Given the description of an element on the screen output the (x, y) to click on. 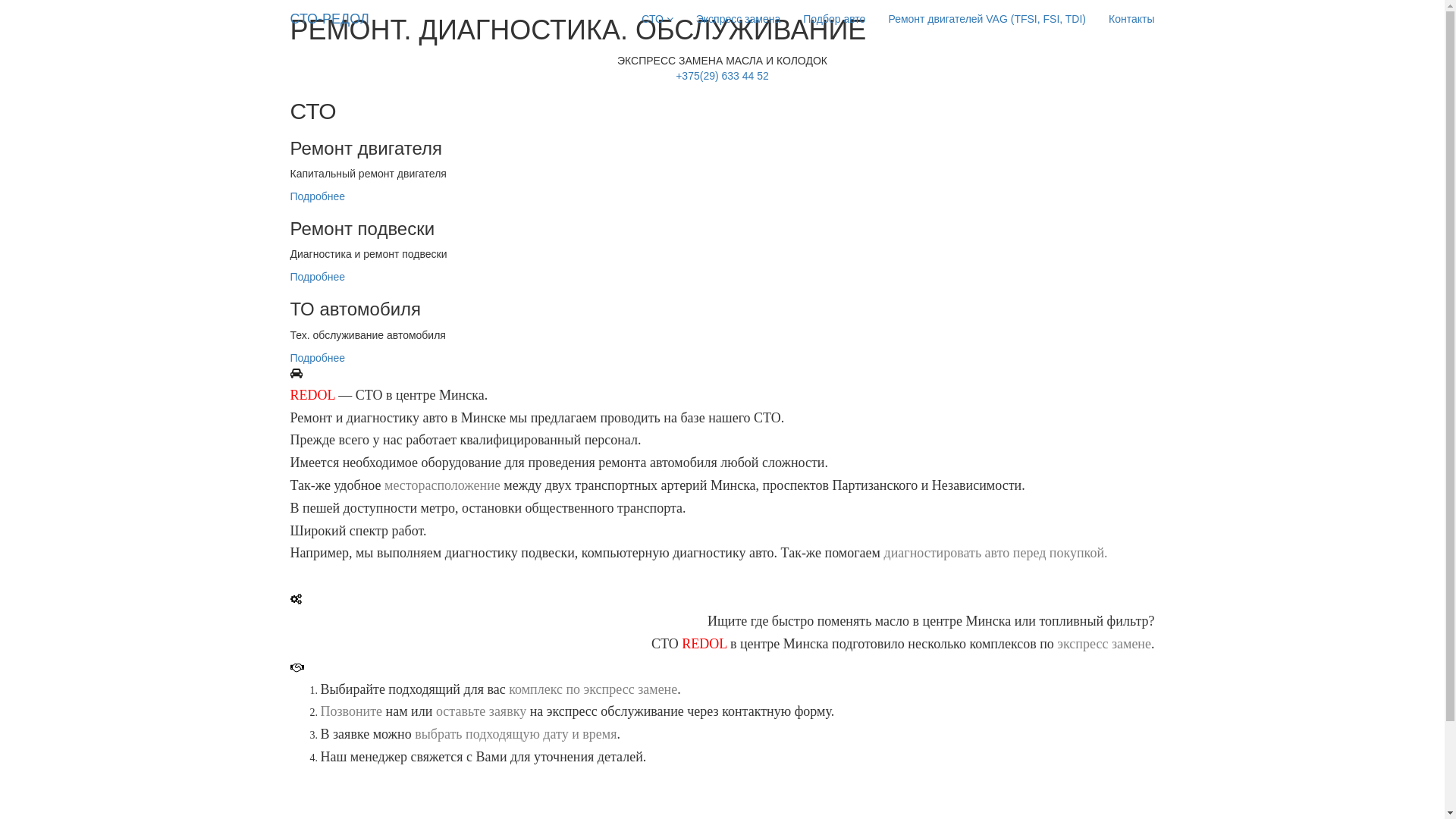
+375(29) 633 44 52 Element type: text (721, 75)
